Given the description of an element on the screen output the (x, y) to click on. 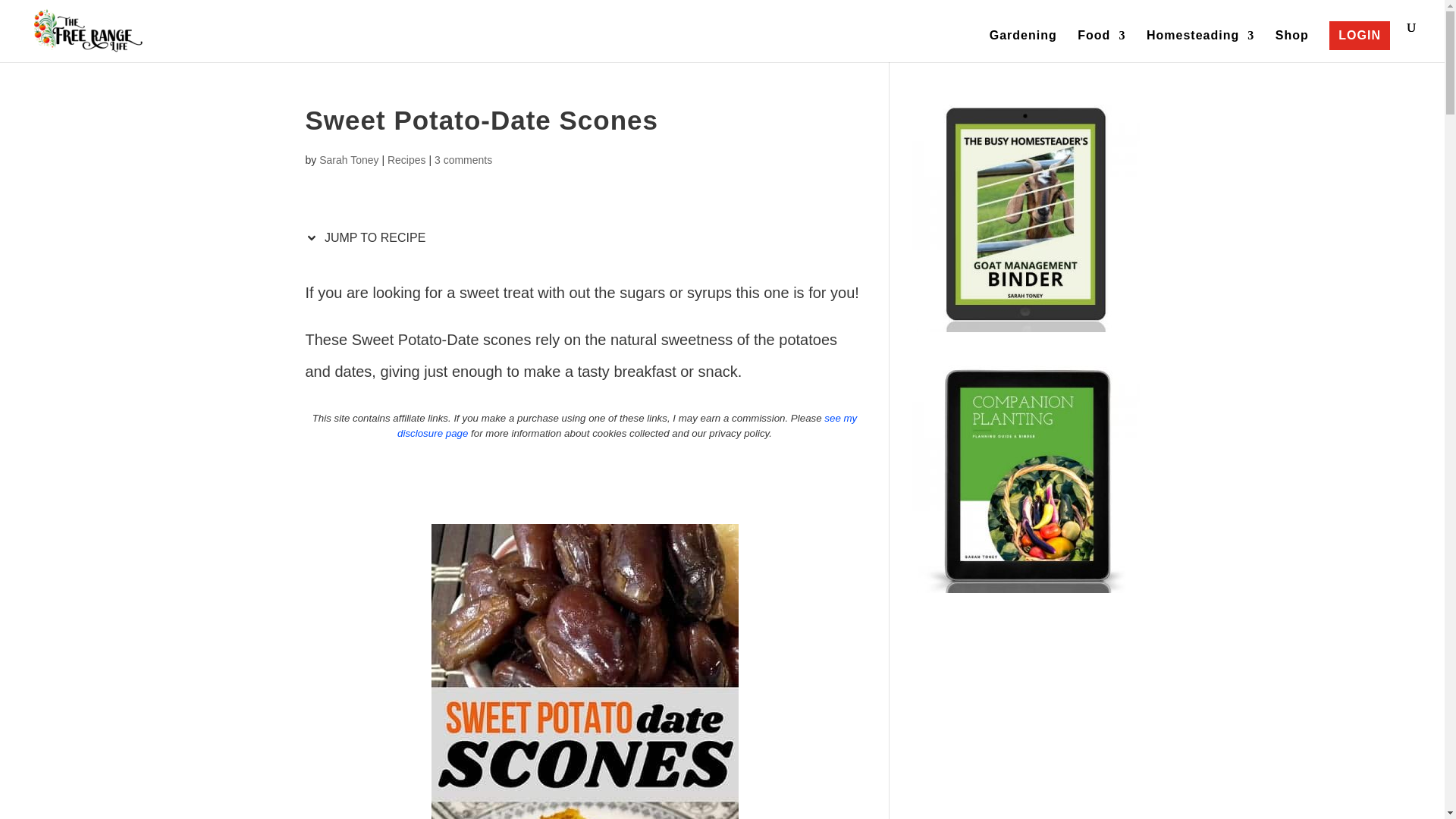
JUMP TO RECIPE (368, 237)
Posts by Sarah Toney (348, 159)
LOGIN (1359, 35)
Homesteading (1200, 46)
Gardening (1023, 46)
see my disclosure page (627, 425)
Recipes (406, 159)
3 comments (462, 159)
Sarah Toney (348, 159)
Shop (1291, 46)
